Given the description of an element on the screen output the (x, y) to click on. 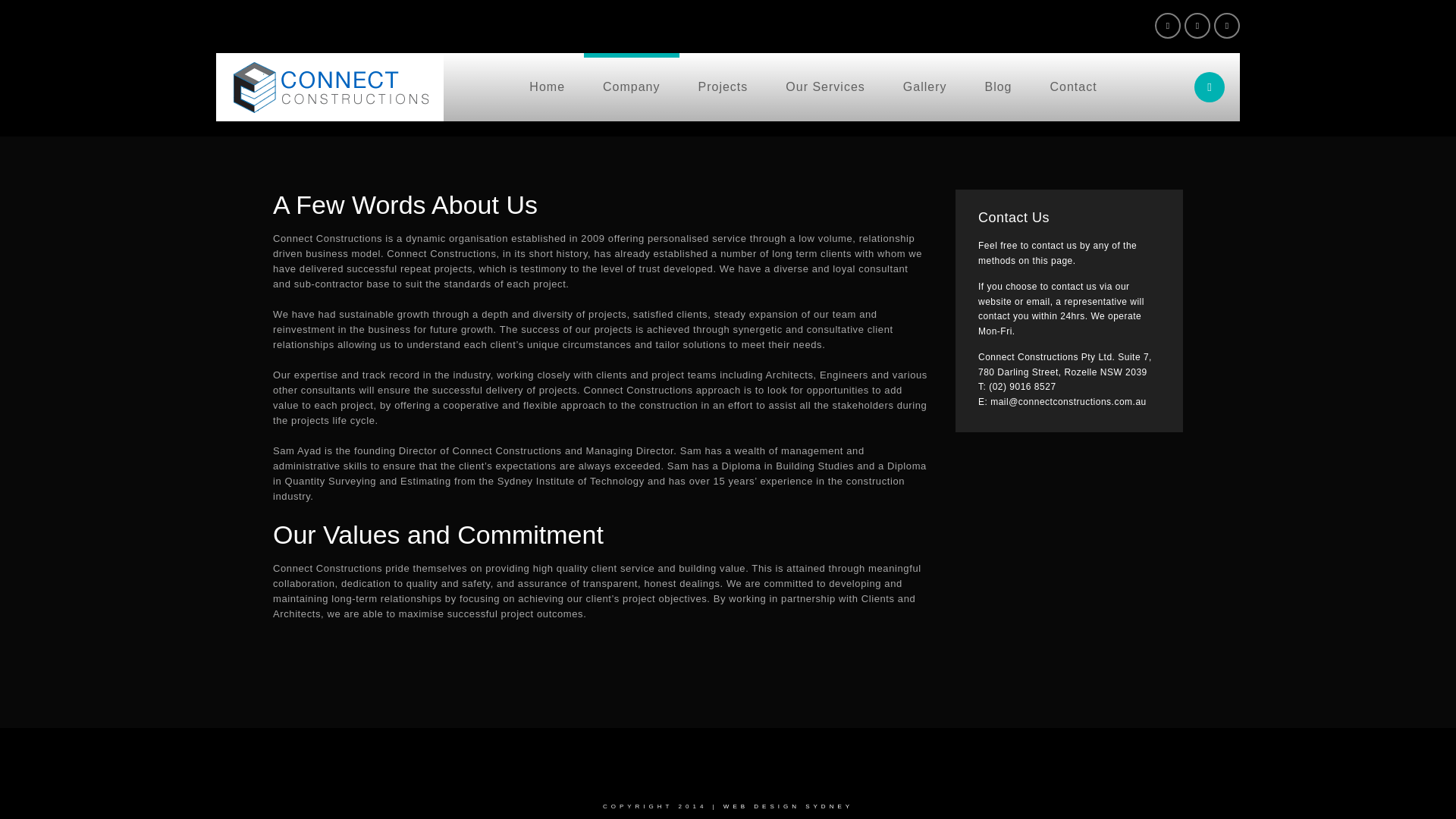
Gallery (924, 87)
Projects (723, 87)
Company (630, 87)
Blog (997, 87)
Home (547, 87)
Contact (1073, 87)
Our Services (825, 87)
